Given the description of an element on the screen output the (x, y) to click on. 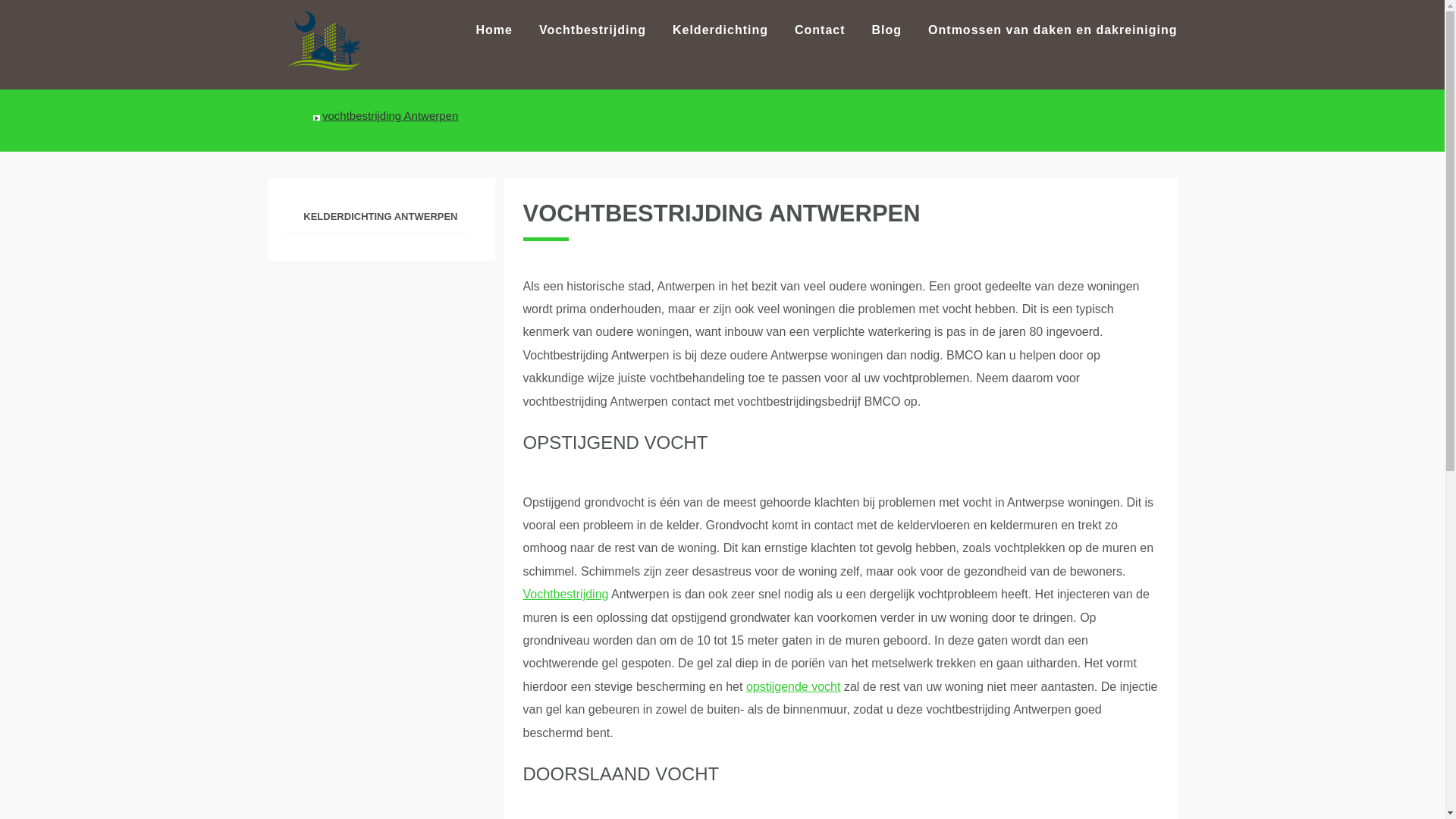
KELDERDICHTING ANTWERPEN Element type: text (374, 217)
Vochtbestrijding Element type: text (565, 593)
Home Element type: text (493, 30)
Vochtbestrijding Element type: text (592, 30)
Kelderdichting Element type: text (720, 30)
bmco.be Element type: text (288, 115)
bmco opstijgend vocht Element type: hover (323, 41)
opstijgende vocht Element type: text (793, 686)
Blog Element type: text (887, 30)
Contact Element type: text (819, 30)
bmco opstijgend vocht Element type: hover (332, 41)
Ontmossen van daken en dakreiniging Element type: text (1052, 30)
